Given the description of an element on the screen output the (x, y) to click on. 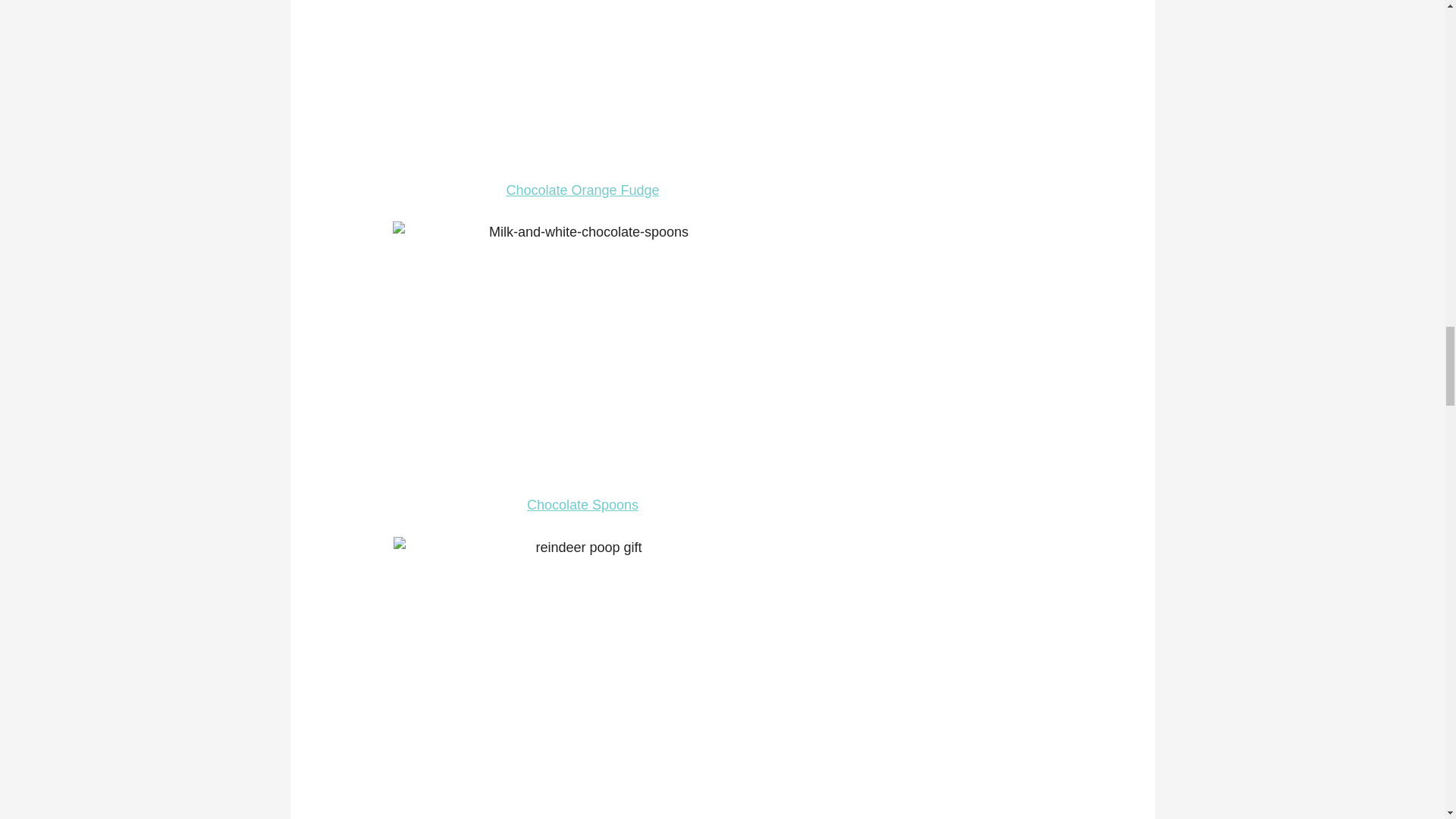
Chocolate Spoons (583, 504)
Chocolate Orange Fudge (582, 190)
